Given the description of an element on the screen output the (x, y) to click on. 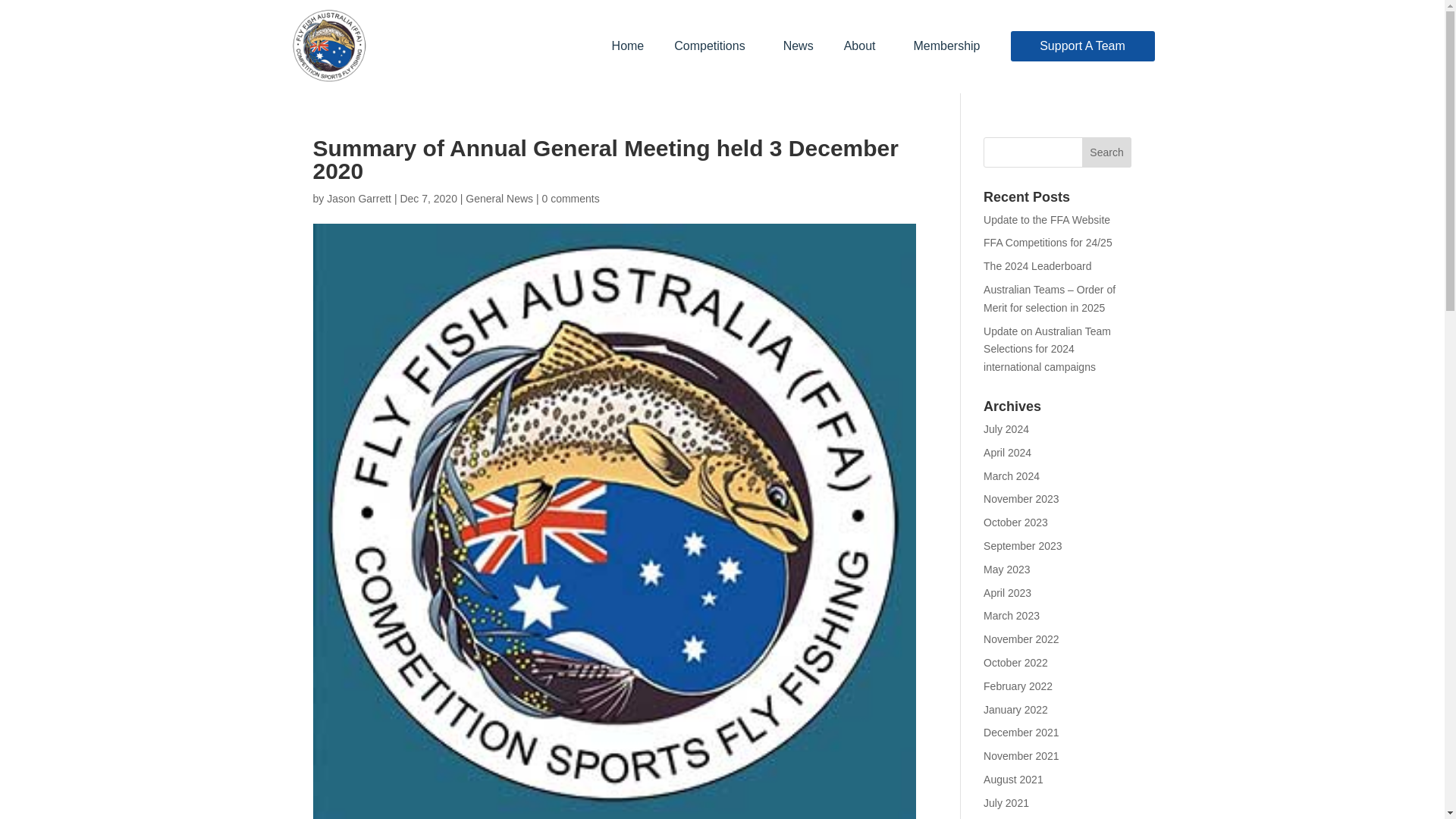
Competitions (713, 45)
Update to the FFA Website (1046, 219)
About (863, 45)
Posts by Jason Garrett (358, 198)
Jason Garrett (358, 198)
General News (498, 198)
Support A Team (1082, 46)
Membership (946, 45)
Home (627, 45)
News (798, 45)
Search (1106, 152)
Search (1106, 152)
0 comments (569, 198)
